Given the description of an element on the screen output the (x, y) to click on. 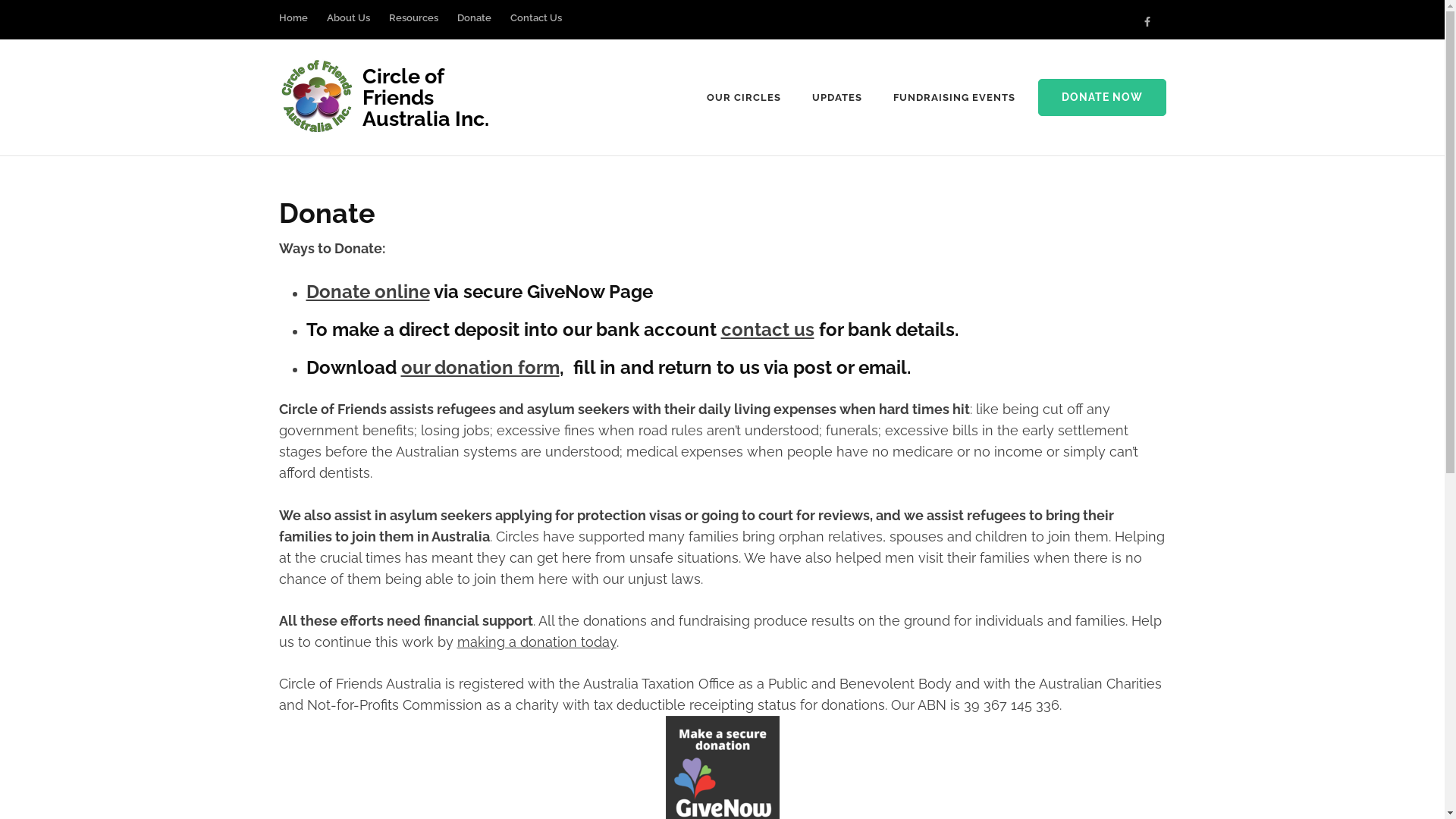
our donation form Element type: text (479, 367)
Home Element type: text (293, 25)
Circle of Friends Australia Inc. Element type: text (425, 97)
UPDATES Element type: text (837, 97)
OUR CIRCLES Element type: text (743, 97)
Donate Element type: text (473, 25)
DONATE NOW Element type: text (1101, 97)
contact us Element type: text (766, 329)
Donate online Element type: text (367, 291)
making a donation today Element type: text (535, 641)
About Us Element type: text (347, 25)
Facebook Element type: hover (1147, 21)
Resources Element type: text (412, 25)
Contact Us Element type: text (535, 25)
FUNDRAISING EVENTS Element type: text (954, 97)
